Given the description of an element on the screen output the (x, y) to click on. 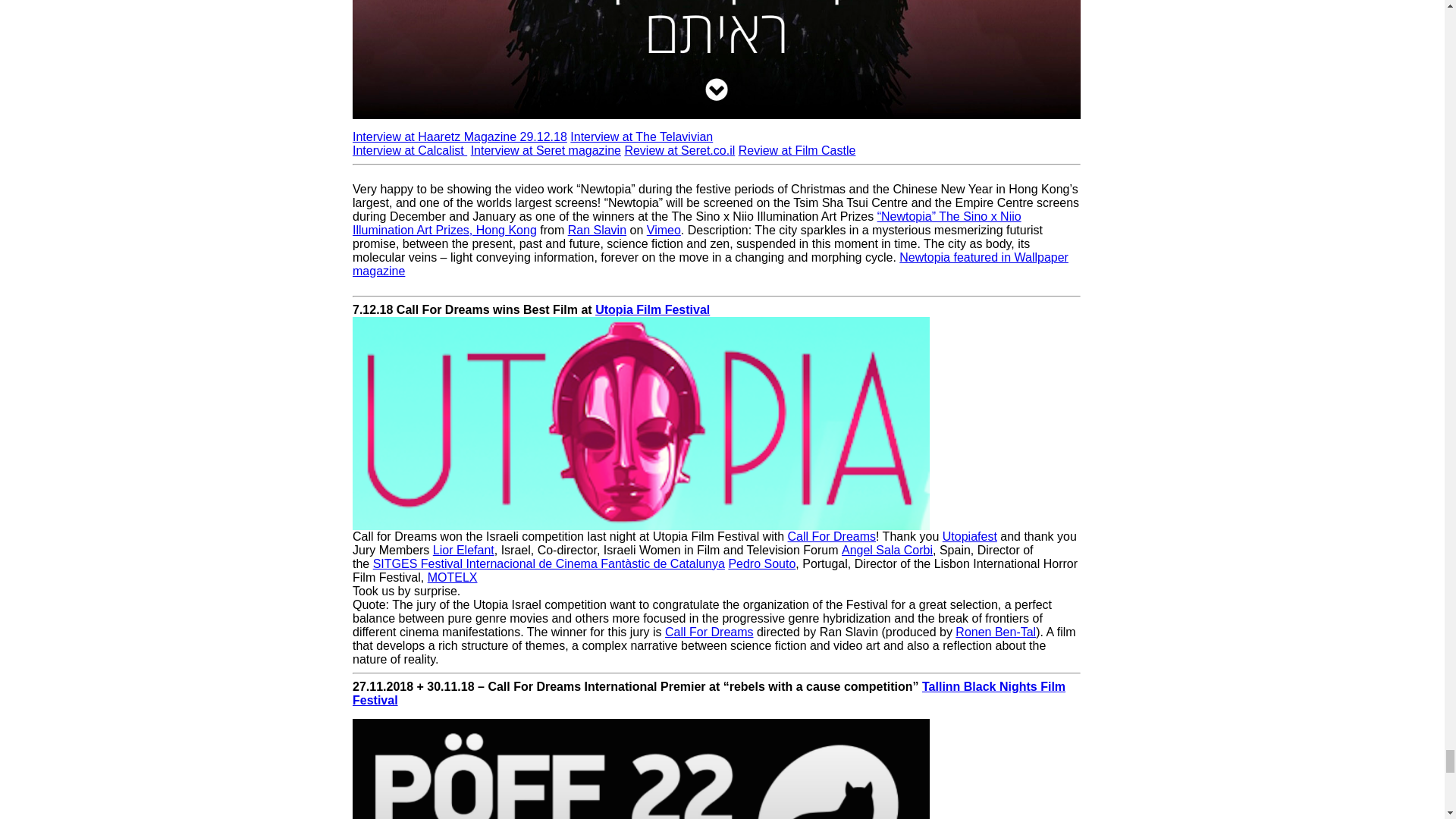
Page 1 (716, 224)
Page 1 (716, 58)
Page 1 (716, 141)
Page 1 (716, 763)
